Given the description of an element on the screen output the (x, y) to click on. 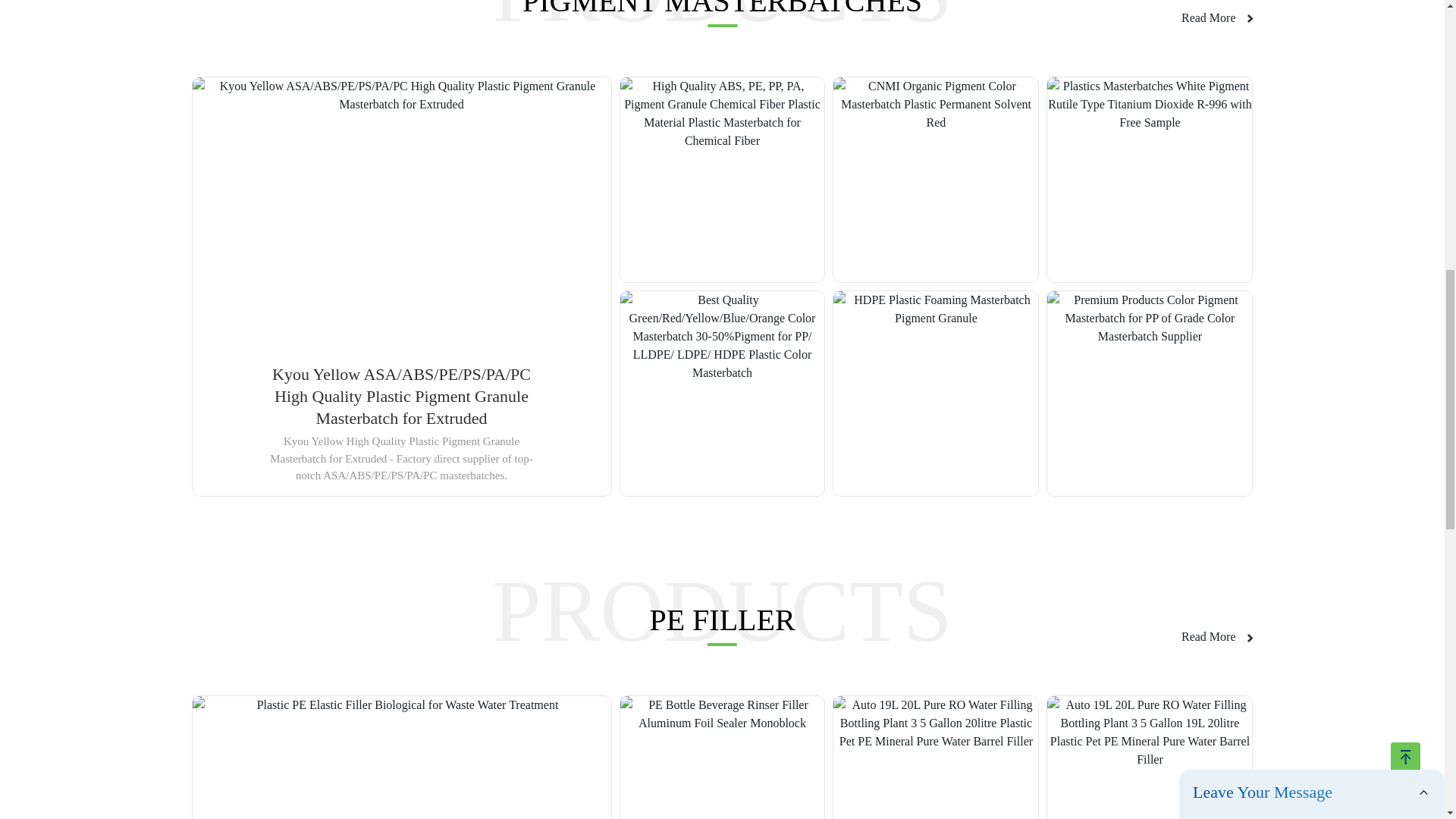
Read More (1216, 637)
Read More (1216, 18)
